Given the description of an element on the screen output the (x, y) to click on. 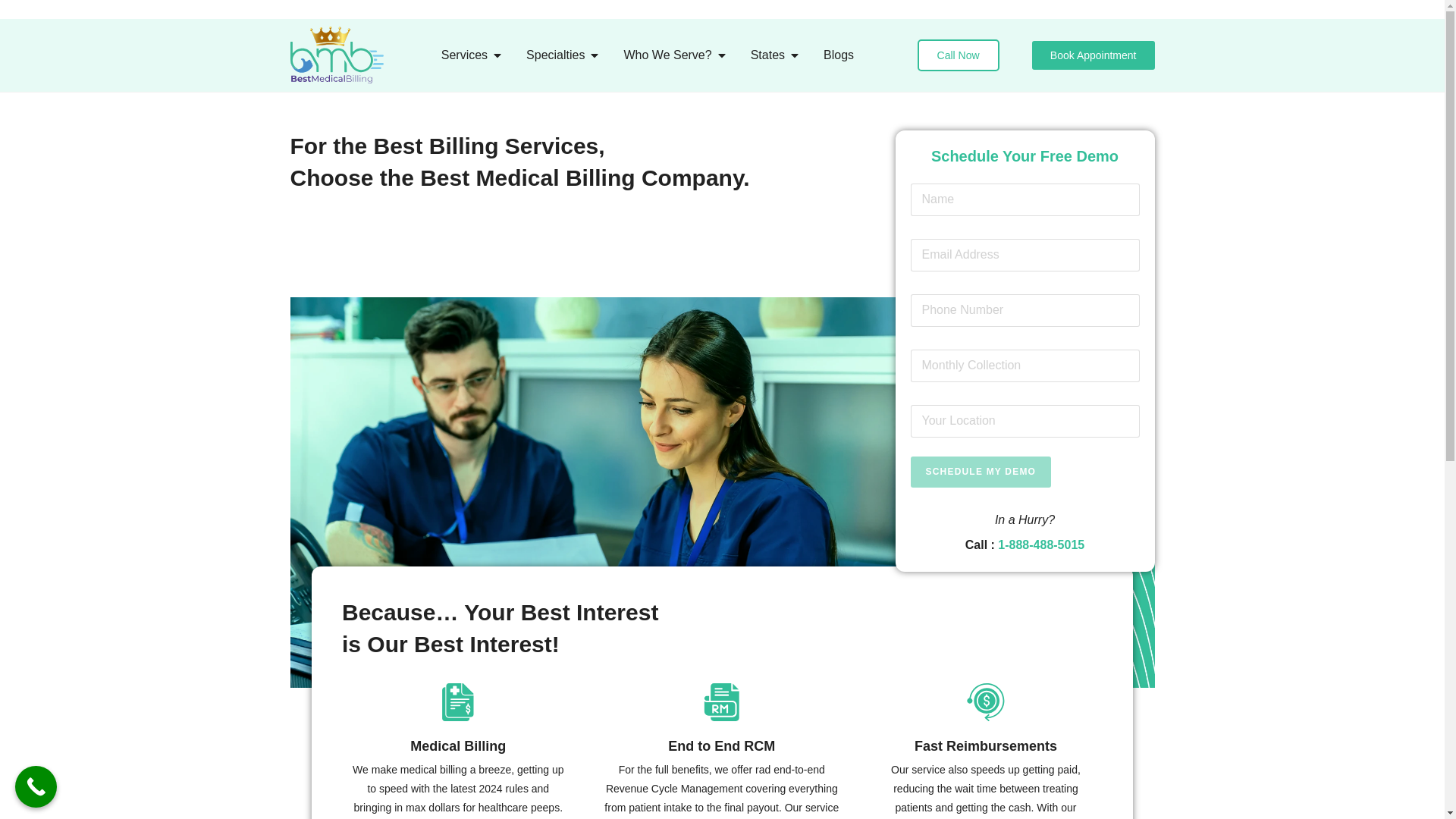
wpforms-submit (722, 627)
